Given the description of an element on the screen output the (x, y) to click on. 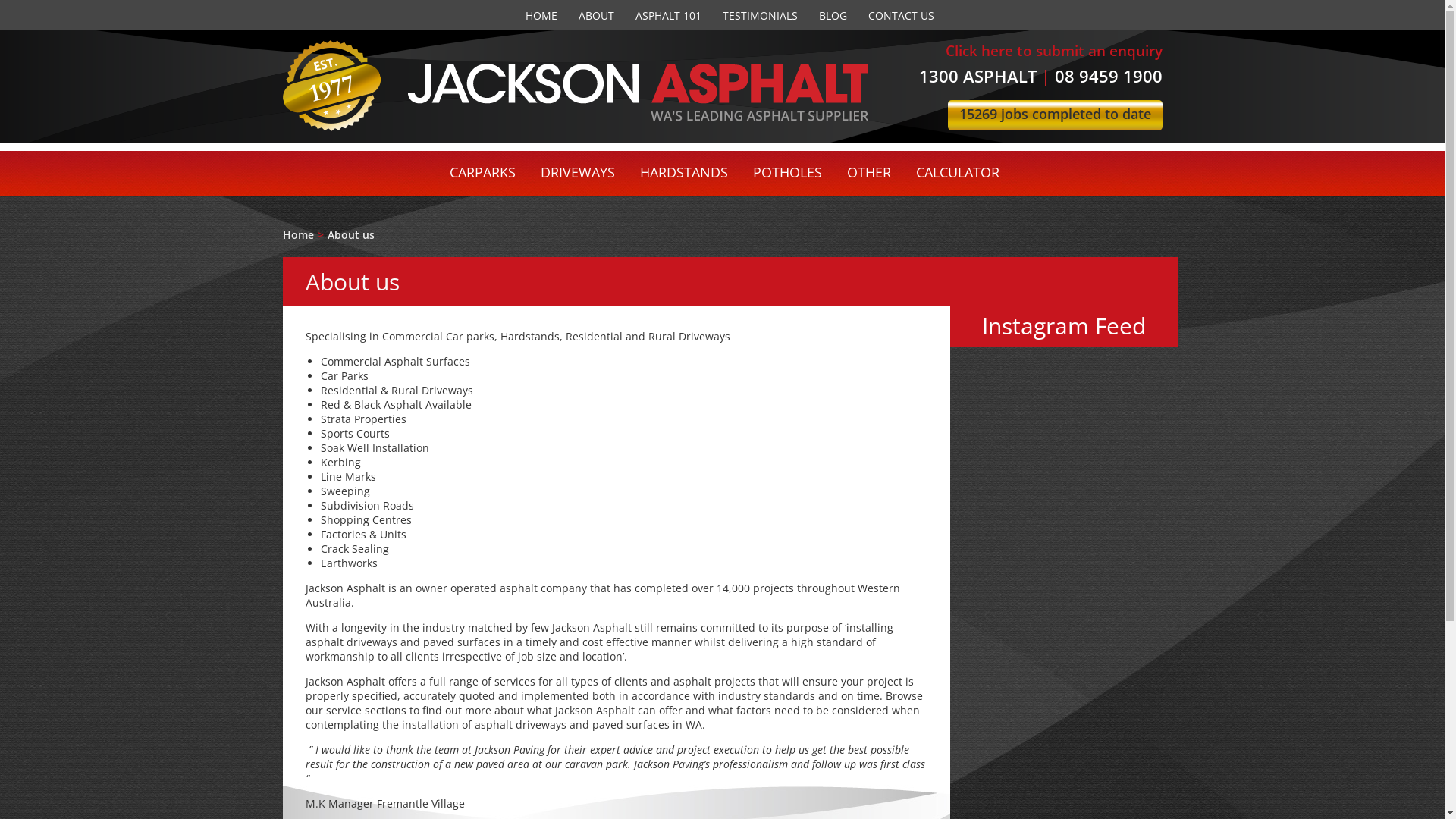
ABOUT Element type: text (596, 15)
Home Element type: text (297, 234)
CALCULATOR Element type: text (957, 172)
Instagram Feed Element type: text (1063, 325)
1300 ASPHALT Element type: text (977, 75)
CONTACT US Element type: text (901, 15)
HARDSTANDS Element type: text (684, 172)
HOME Element type: text (541, 15)
ASPHALT 101 Element type: text (668, 15)
POTHOLES Element type: text (787, 172)
BLOG Element type: text (833, 15)
DRIVEWAYS Element type: text (577, 172)
Click here to submit an enquiry Element type: text (1052, 50)
08 9459 1900 Element type: text (1107, 75)
OTHER Element type: text (869, 172)
Jackson Asphalt Element type: hover (637, 92)
EST.1977 Element type: hover (331, 85)
TESTIMONIALS Element type: text (759, 15)
CARPARKS Element type: text (482, 172)
